Given the description of an element on the screen output the (x, y) to click on. 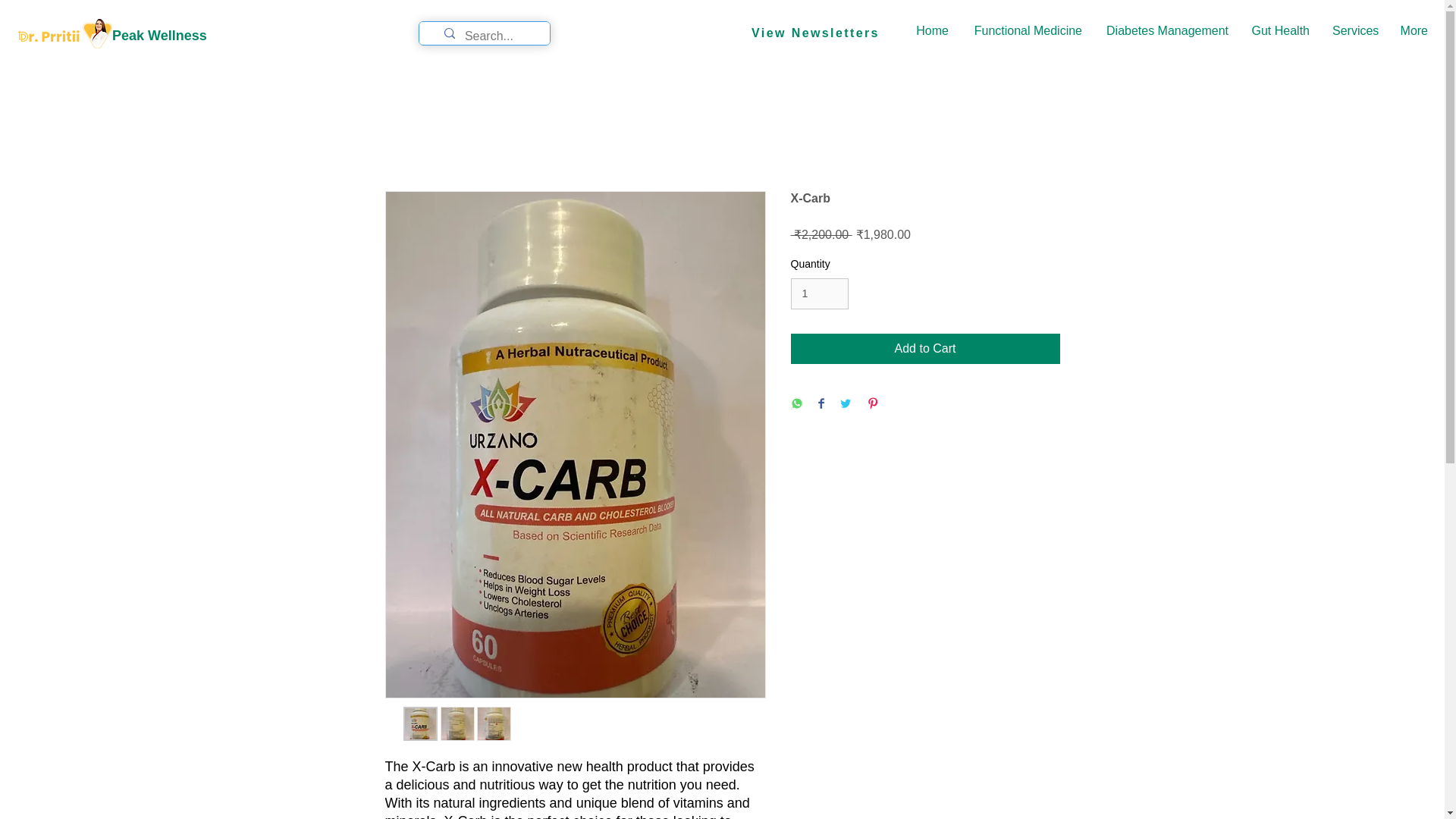
Home (930, 30)
View Newsletters (815, 33)
Peak Wellness (159, 35)
Functional Medicine (1026, 30)
Services (1353, 30)
1 (818, 293)
Add to Cart (924, 348)
Diabetes Management (1166, 30)
Gut Health (1280, 30)
